Given the description of an element on the screen output the (x, y) to click on. 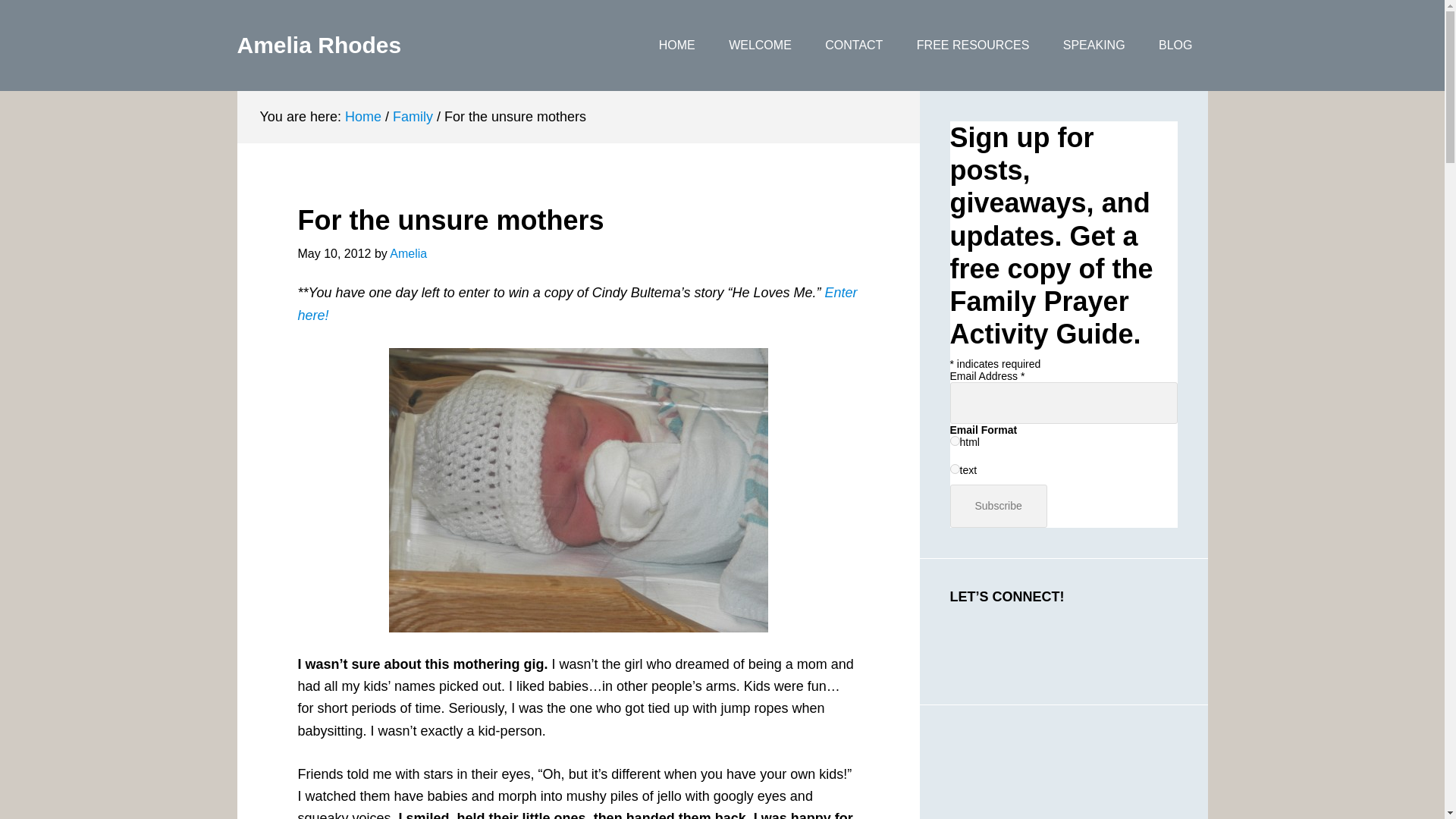
Subscribe (997, 505)
Amelia Rhodes (318, 44)
WELCOME (759, 45)
text (954, 469)
Subscribe (997, 505)
Amelia (408, 253)
T1234 (577, 490)
Home (363, 116)
SPEAKING (1094, 45)
FREE RESOURCES (972, 45)
html (954, 440)
Enter here! (577, 303)
CONTACT (853, 45)
Family (412, 116)
